Given the description of an element on the screen output the (x, y) to click on. 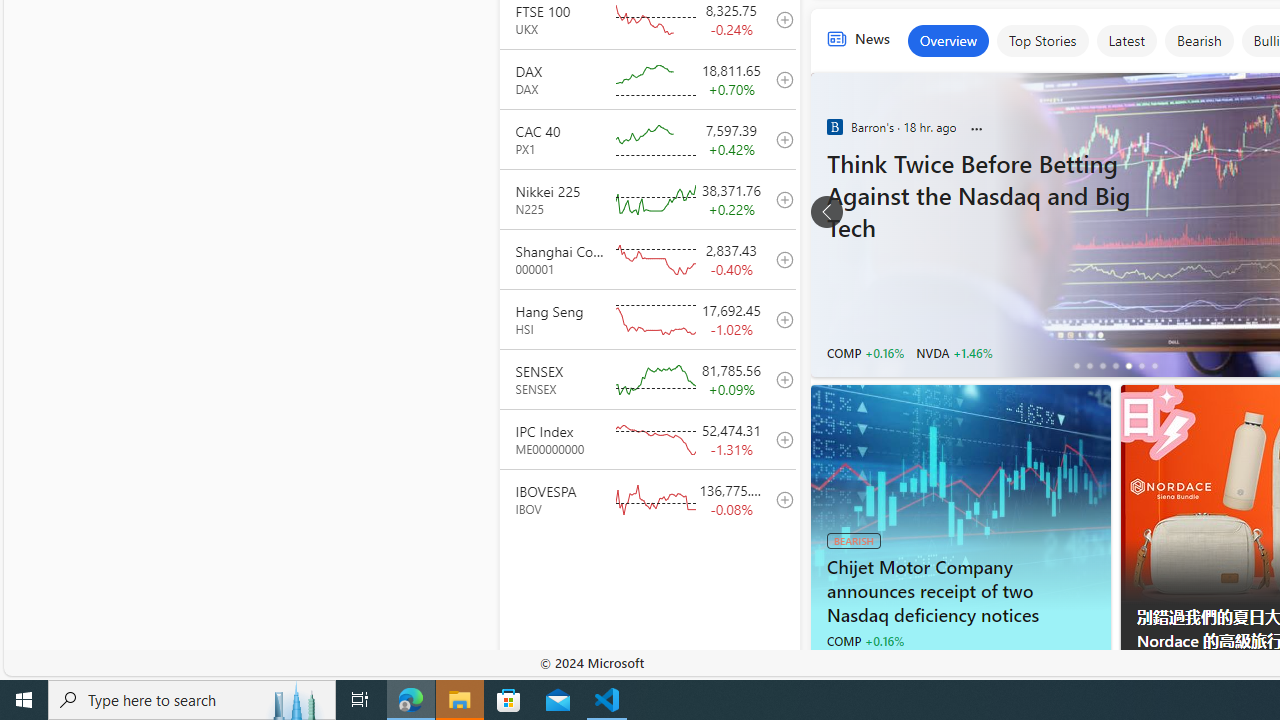
add to your watchlist (779, 498)
Overview (948, 40)
COMP +0.16% (864, 640)
NVDA +1.46% (954, 352)
